Given the description of an element on the screen output the (x, y) to click on. 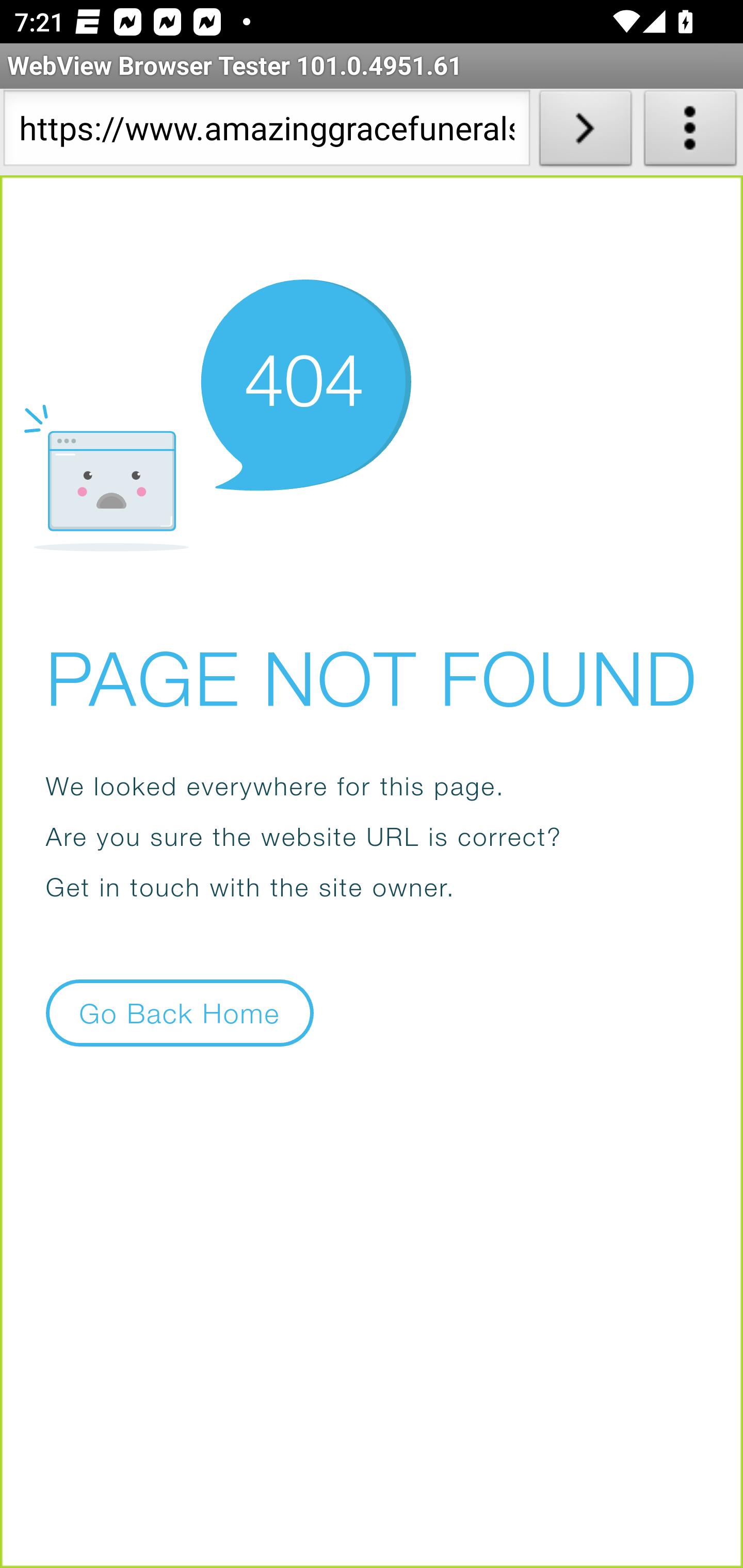
Load URL (585, 132)
About WebView (690, 132)
Go Back Home (179, 1012)
